Given the description of an element on the screen output the (x, y) to click on. 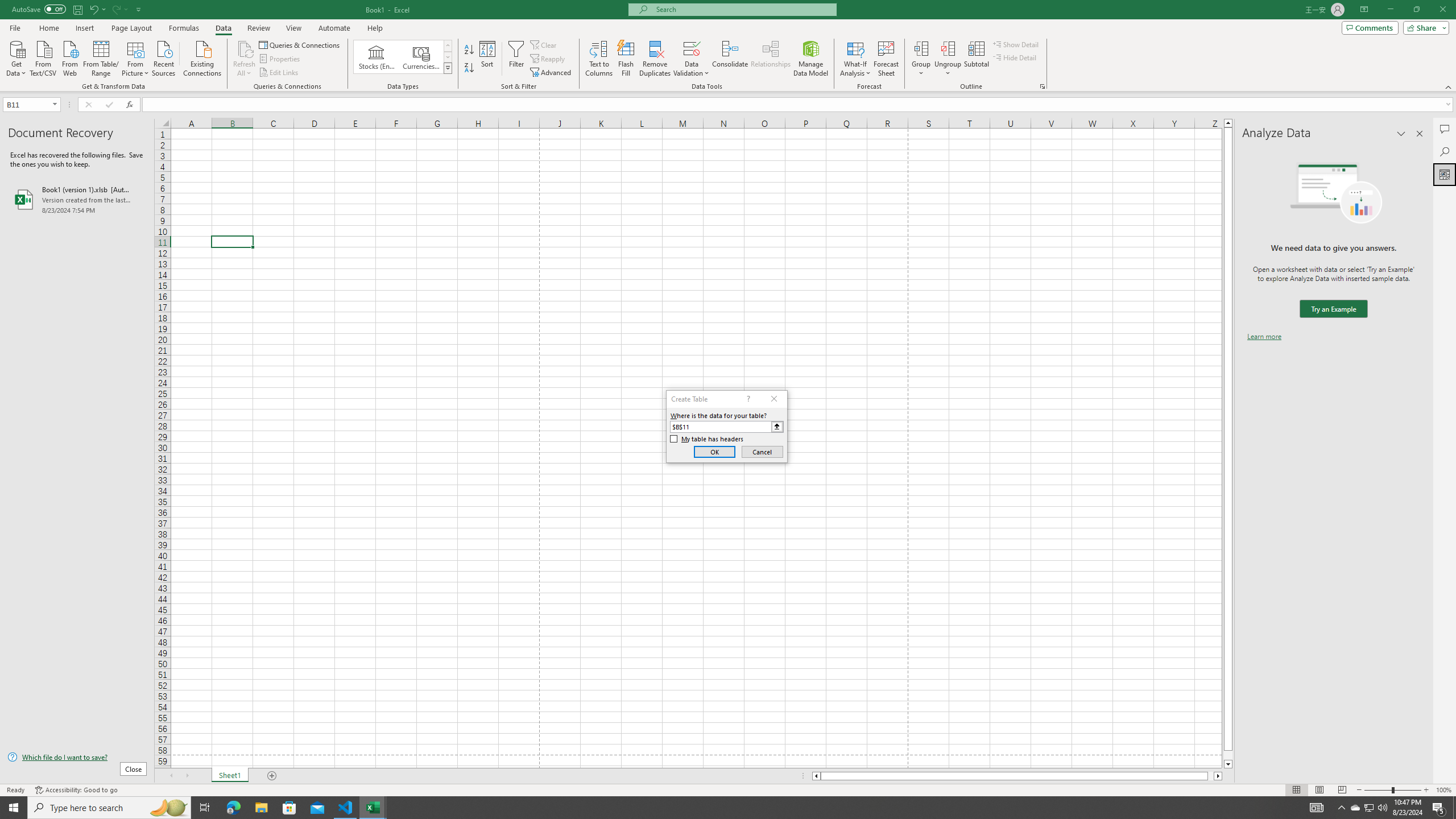
Home (48, 28)
Page right (1211, 775)
Zoom Out (1377, 790)
Share (1423, 27)
Refresh All (244, 48)
Formulas (184, 28)
Class: NetUIImage (447, 68)
Customize Quick Access Toolbar (139, 9)
From Picture (135, 57)
Close pane (1419, 133)
Sort A to Z (469, 49)
Column right (1218, 775)
Name Box (30, 104)
Queries & Connections (300, 44)
